Given the description of an element on the screen output the (x, y) to click on. 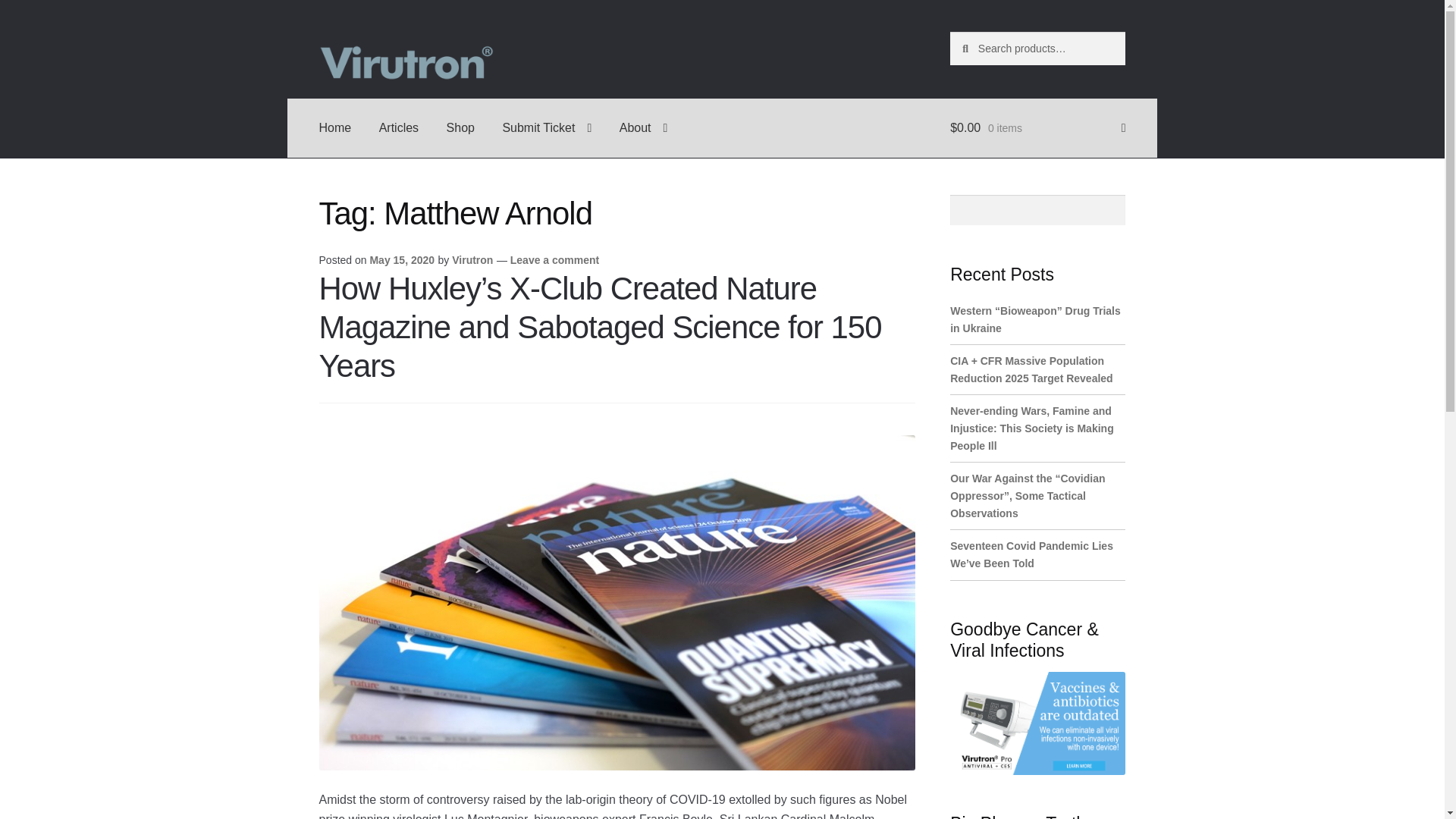
Articles (398, 128)
Submit Ticket (546, 128)
May 15, 2020 (401, 259)
Virutron (472, 259)
Home (335, 128)
About (643, 128)
Leave a comment (555, 259)
View your shopping cart (1037, 128)
